Given the description of an element on the screen output the (x, y) to click on. 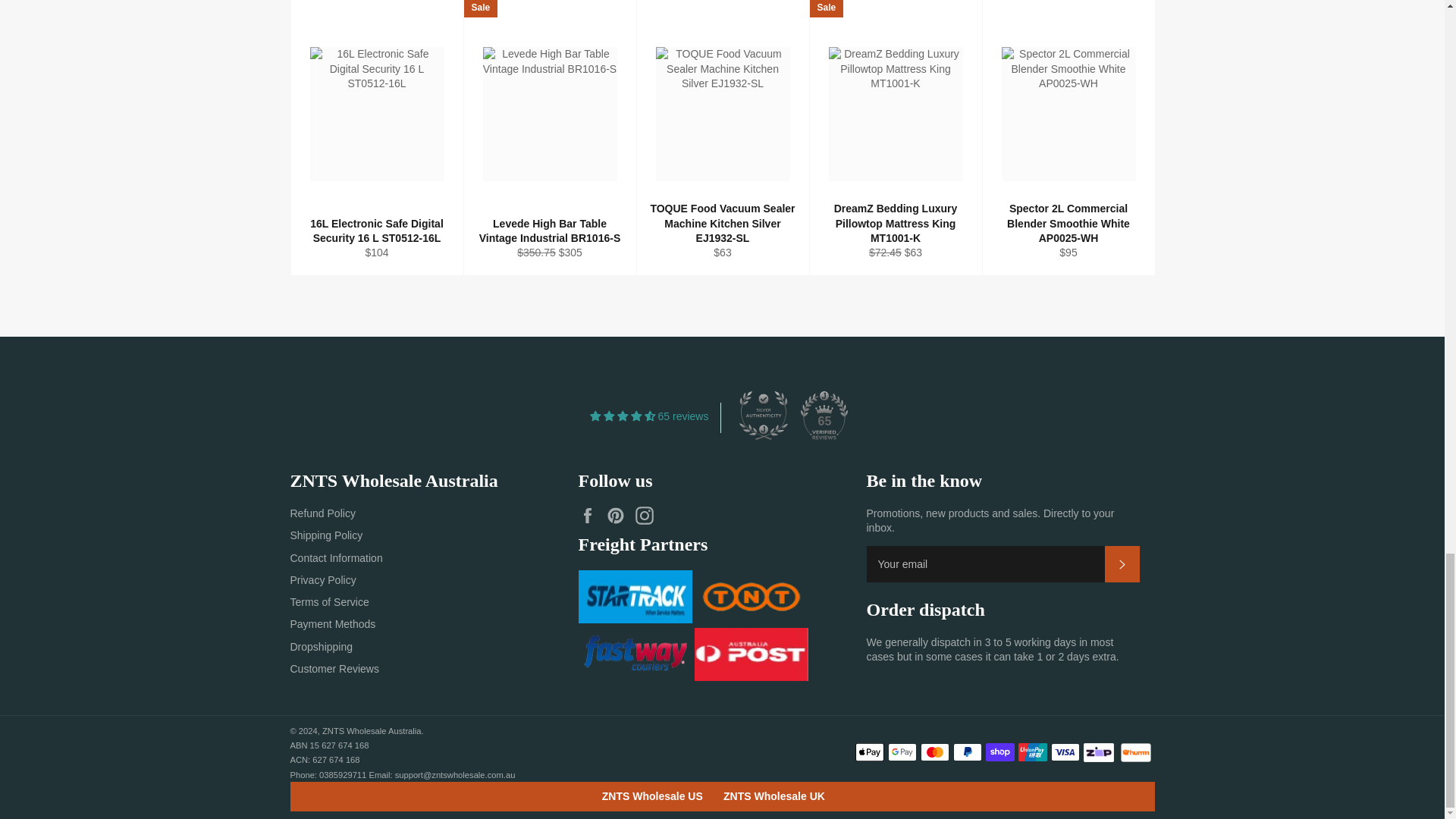
ZNTS Wholesale Australia on Instagram (647, 515)
ZNTS Wholesale Australia on Facebook (591, 515)
ZNTS Wholesale Australia on Pinterest (619, 515)
